Given the description of an element on the screen output the (x, y) to click on. 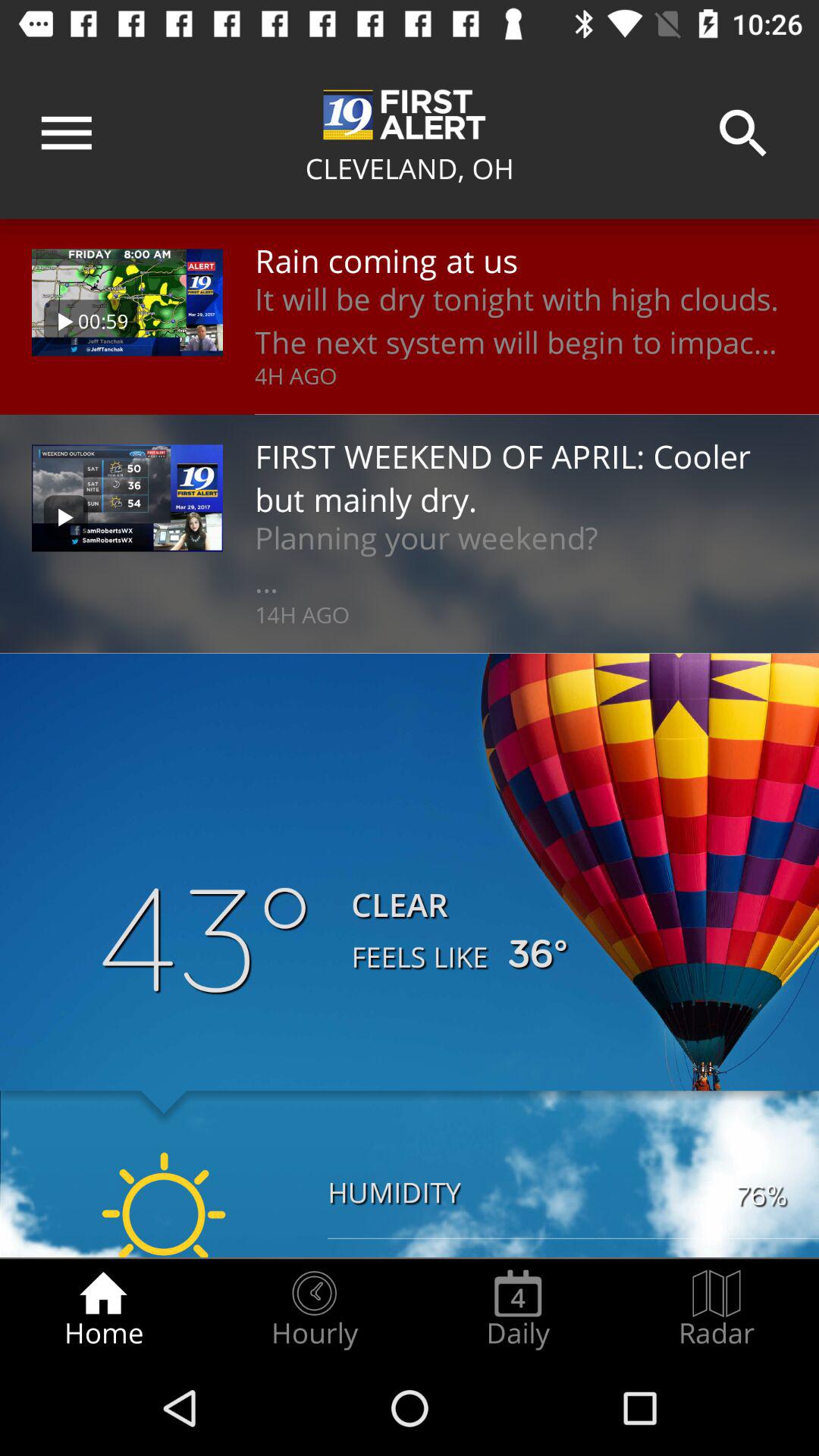
press icon next to hourly (518, 1309)
